Given the description of an element on the screen output the (x, y) to click on. 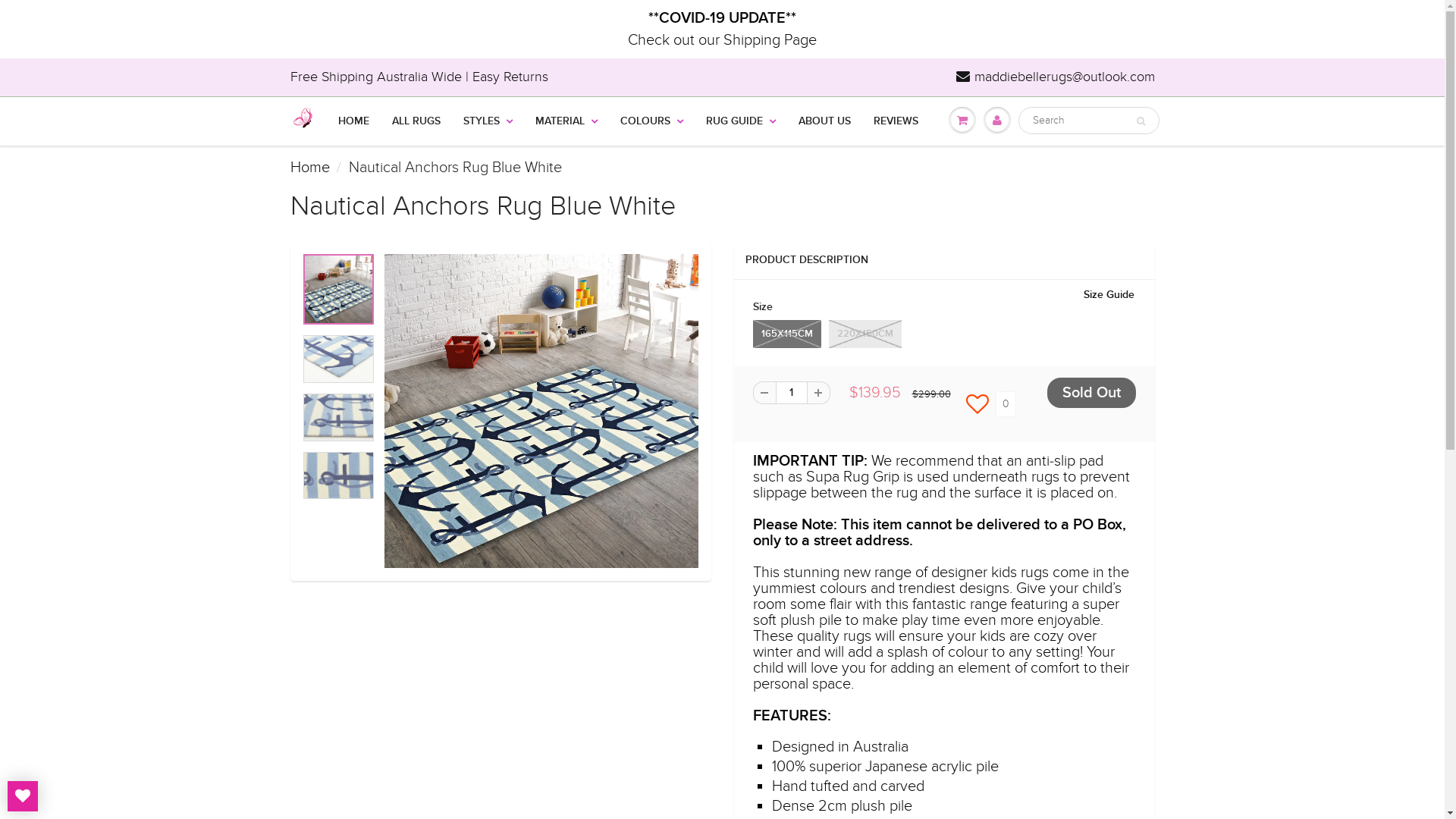
Nautical Anchors Rug Blue White - MaddieBelle Element type: hover (541, 410)
Home Element type: text (309, 167)
Search Element type: text (1140, 121)
HOME Element type: text (352, 120)
ALL RUGS Element type: text (415, 120)
Sold Out Element type: text (1090, 392)
RUG GUIDE Element type: text (740, 120)
Size Guide Element type: text (1108, 294)
COLOURS Element type: text (650, 120)
MATERIAL Element type: text (565, 120)
ABOUT US Element type: text (824, 120)
REVIEWS Element type: text (894, 120)
Free Shipping Australia Wide | Easy Returns Element type: text (418, 77)
STYLES Element type: text (487, 120)
maddiebellerugs@outlook.com Element type: text (1054, 77)
MY FAVES Element type: text (22, 796)
